Given the description of an element on the screen output the (x, y) to click on. 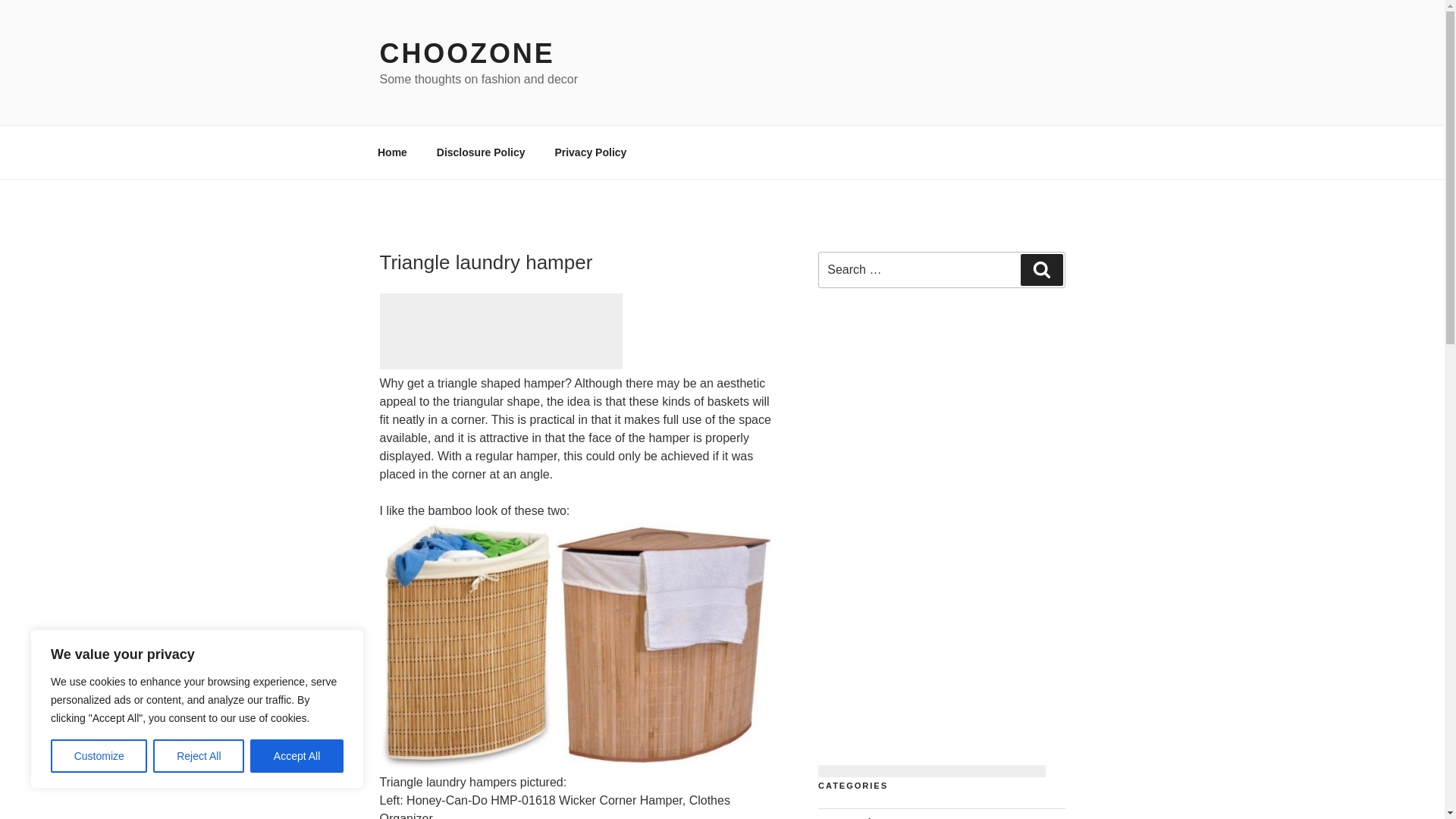
Reject All (198, 756)
Search (1041, 269)
Privacy Policy (590, 151)
Home (392, 151)
Disclosure Policy (480, 151)
CHOOZONE (466, 52)
Customize (98, 756)
Accept All (296, 756)
